Given the description of an element on the screen output the (x, y) to click on. 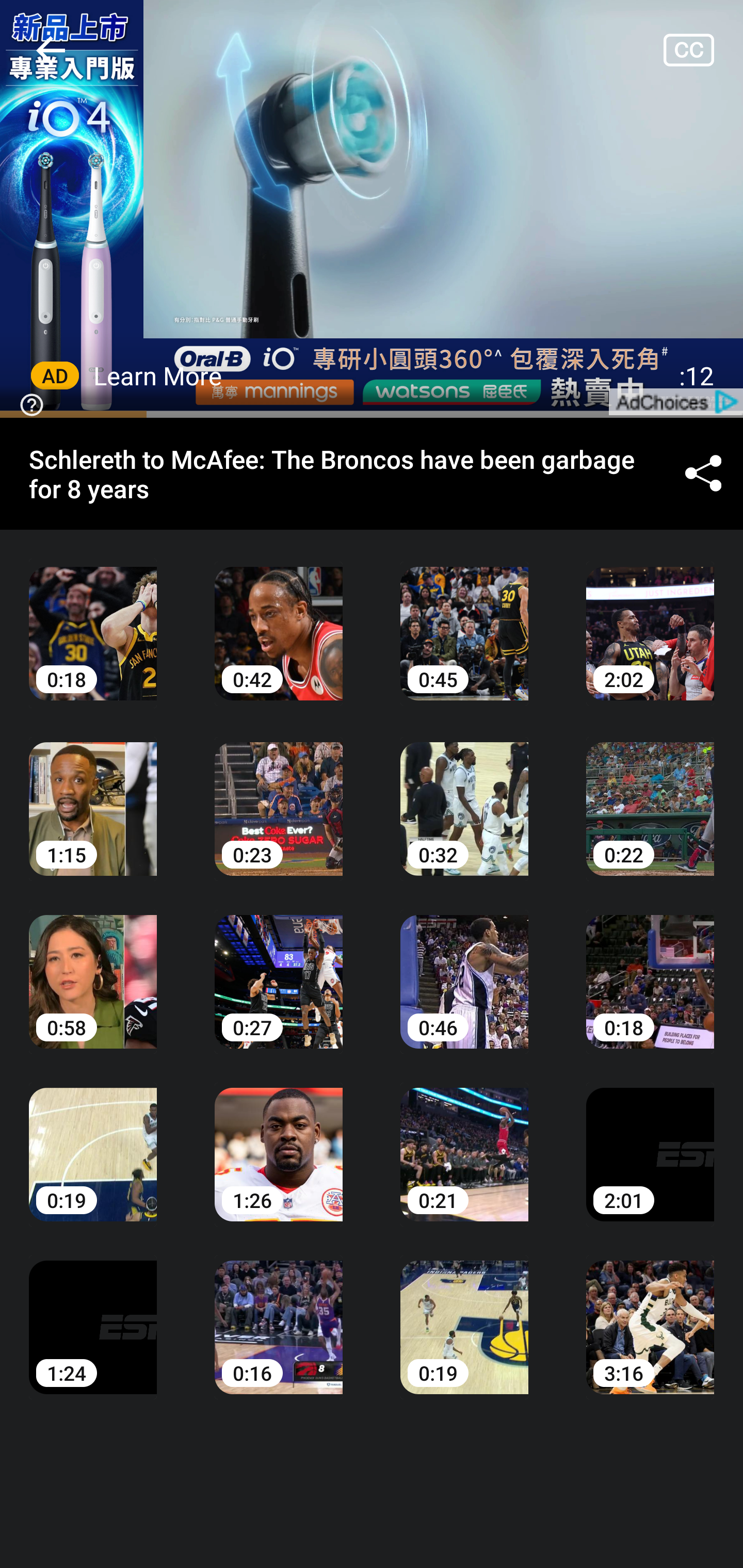
Why This Ad? get?name=admarker-full-tl (371, 209)
Closed captions  (703, 49)
Learn More (157, 375)
get?name=admarker-full-tl (675, 401)
Why This Ad? (27, 403)
Share © (703, 474)
0:18 (92, 618)
0:42 (278, 618)
0:45 (464, 618)
2:02 (650, 618)
1:15 (92, 794)
0:23 (278, 794)
0:32 (464, 794)
0:22 (650, 794)
0:58 (92, 967)
0:27 (278, 967)
0:46 (464, 967)
0:18 (650, 967)
0:19 (92, 1139)
1:26 (278, 1139)
0:21 (464, 1139)
2:01 (650, 1139)
1:24 (92, 1312)
0:16 (278, 1312)
0:19 (464, 1312)
3:16 (650, 1312)
